Given the description of an element on the screen output the (x, y) to click on. 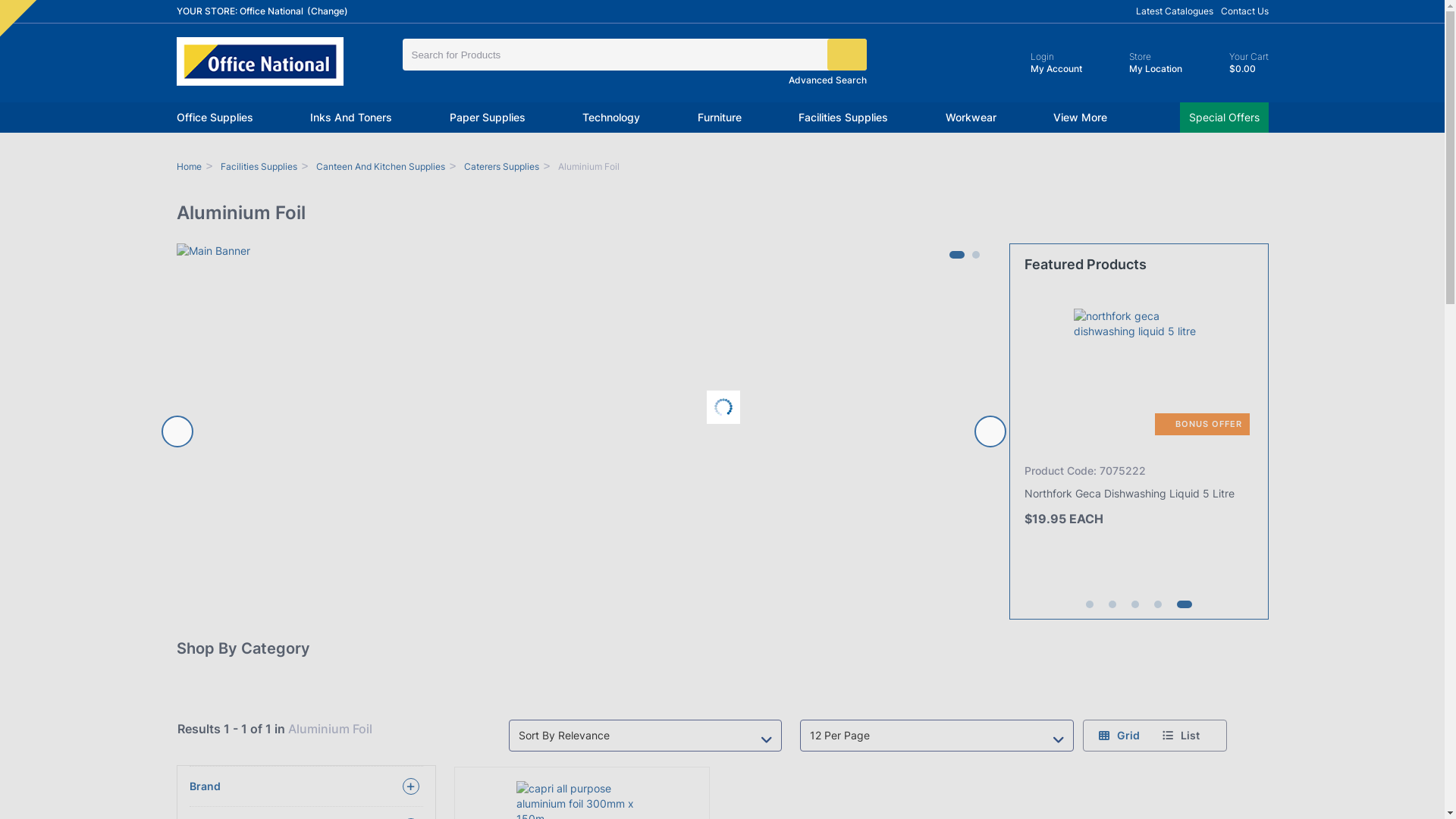
Special Offers Element type: text (1223, 117)
5 Element type: text (1180, 604)
Home Element type: text (187, 166)
Brand Element type: text (306, 785)
Technology Element type: text (611, 117)
Caterers Supplies Element type: text (501, 166)
(Change) Element type: text (326, 11)
Workwear Element type: text (969, 117)
Store
My
Location Element type: text (1141, 62)
4 Element type: text (1157, 604)
Paper Supplies Element type: text (486, 117)
3 Element type: text (1135, 604)
Next Element type: text (989, 431)
NORTHFORK GECA DISHWASHING LIQUID 5 LITRE Element type: hover (1141, 373)
1 Element type: text (1089, 604)
Latest Catalogues Element type: text (1174, 10)
Office National Element type: hover (258, 61)
Advanced Search Element type: text (827, 79)
Inks And Toners Element type: text (351, 117)
Chat Element type: hover (1406, 778)
Furniture Element type: text (719, 117)
3476153 Element type: text (7, 7)
Canteen And Kitchen Supplies Element type: text (380, 166)
Facilities Supplies Element type: text (258, 166)
2 Element type: text (1112, 604)
Facilities Supplies Element type: text (843, 117)
View More Element type: text (1080, 117)
2 Element type: text (975, 254)
Office Supplies Element type: text (213, 117)
Your Cart
$0.00 Element type: text (1234, 62)
Previous Element type: text (176, 431)
1 Element type: text (953, 254)
Login
My
Account Element type: text (1042, 62)
Contact Us Element type: text (1244, 10)
List Element type: text (1180, 734)
Biopak Biocup Double Wall Cup Art Series 390ml Pack 40 Element type: text (1126, 501)
Search Element type: hover (846, 54)
